Given the description of an element on the screen output the (x, y) to click on. 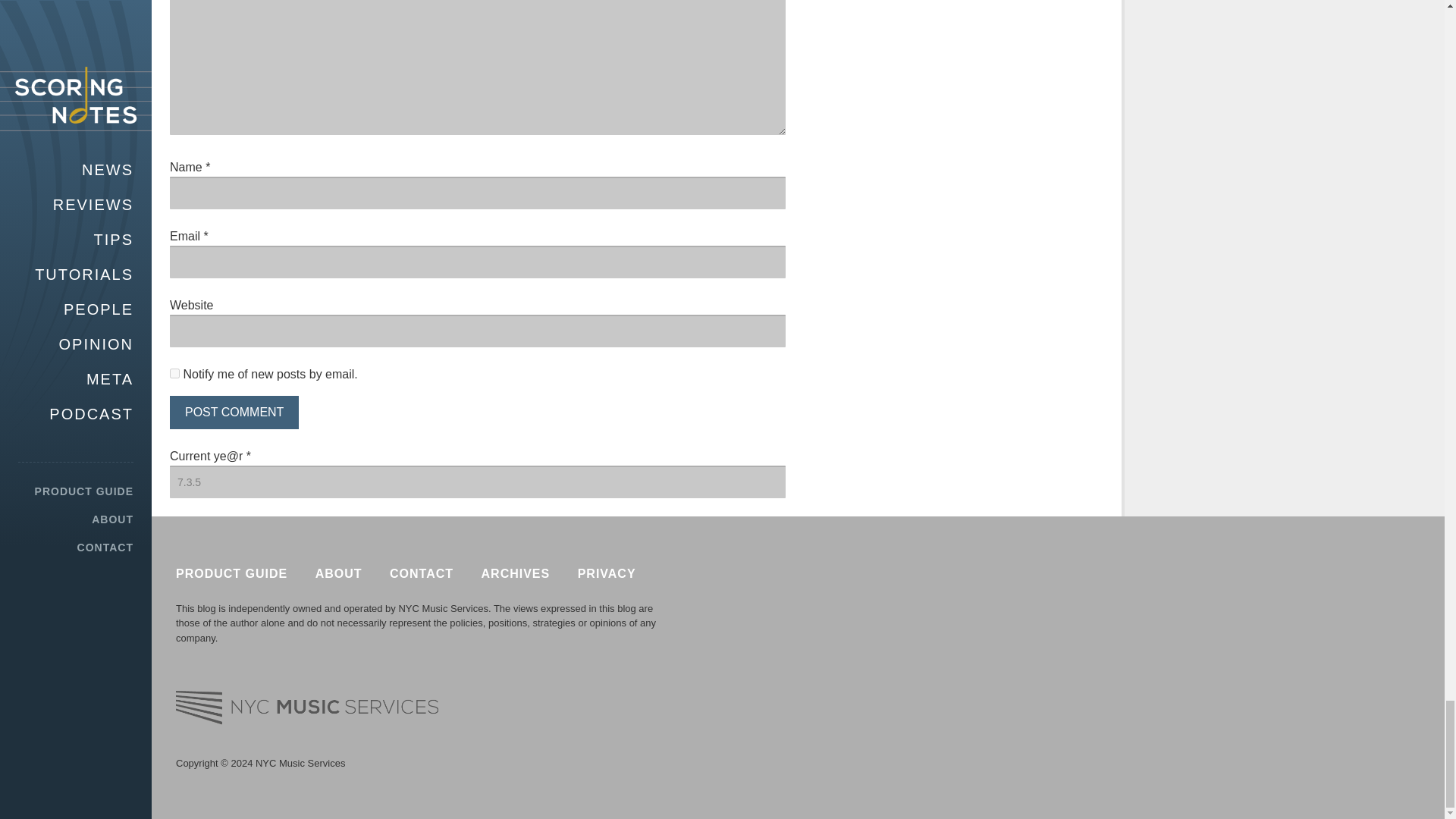
Post Comment (234, 412)
subscribe (174, 373)
7.3.5 (478, 481)
